Given the description of an element on the screen output the (x, y) to click on. 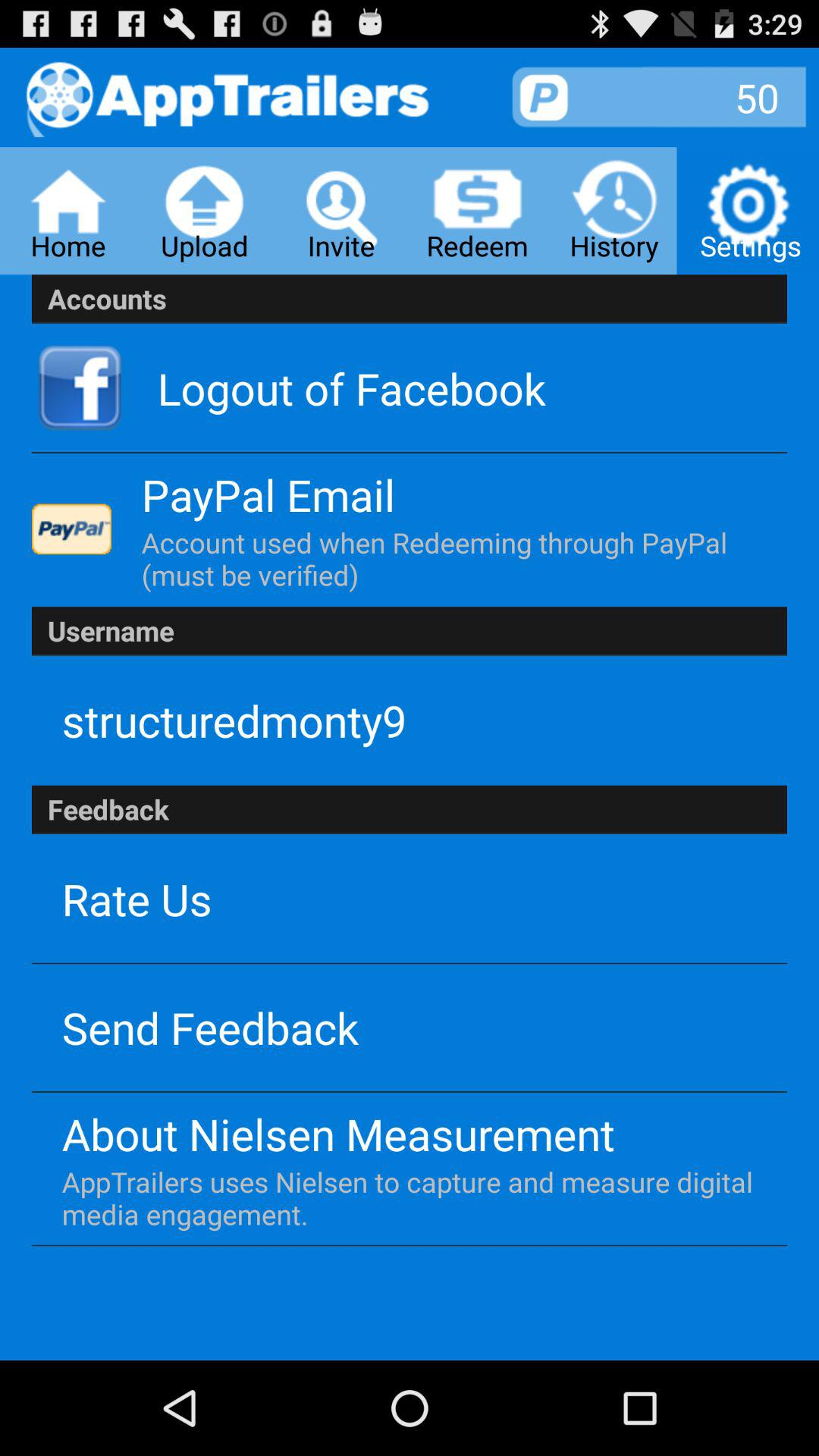
turn off item above structuredmonty9 item (409, 630)
